Given the description of an element on the screen output the (x, y) to click on. 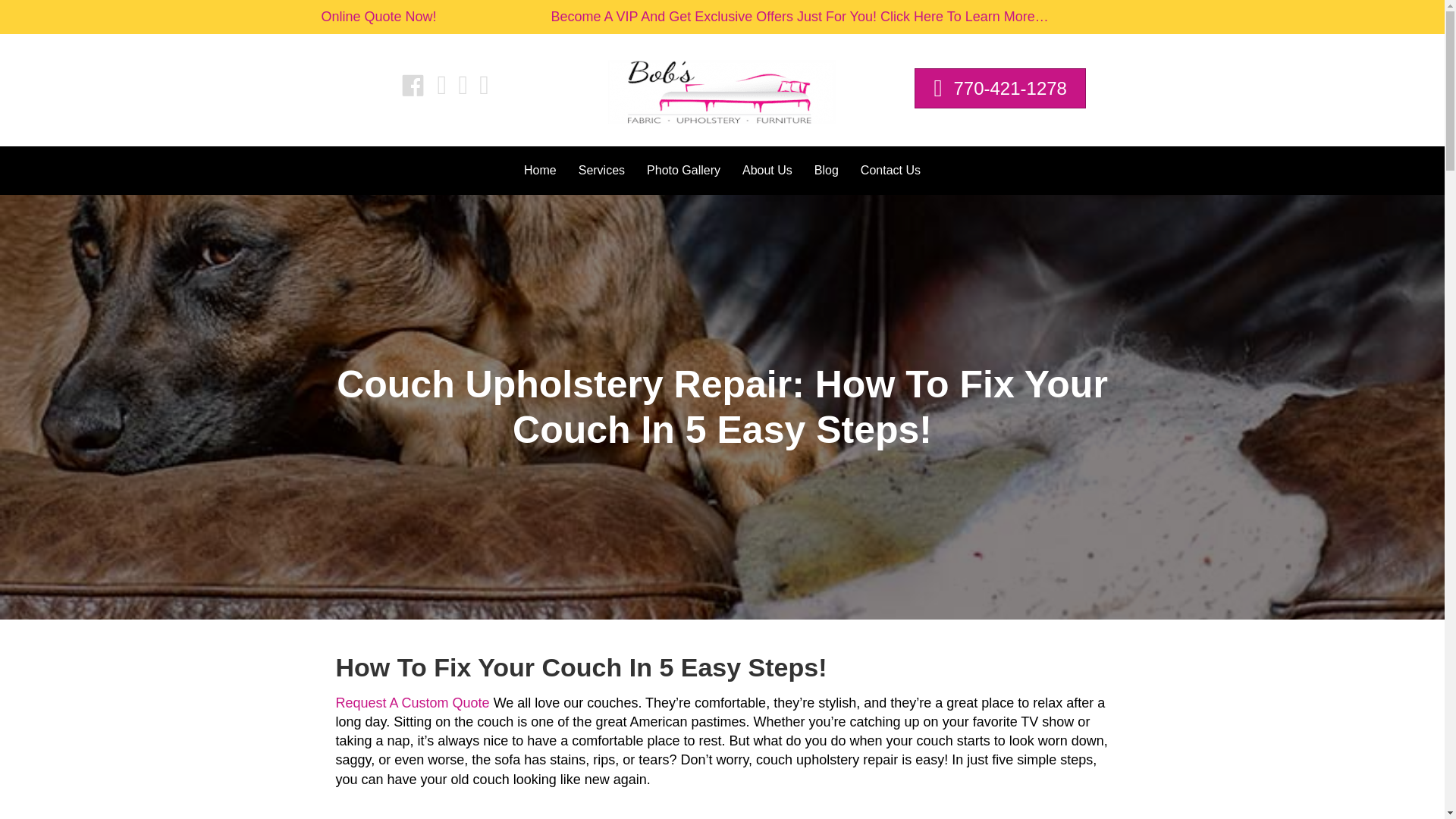
Home (540, 170)
Services (600, 170)
770-421-1278 (1000, 87)
